Given the description of an element on the screen output the (x, y) to click on. 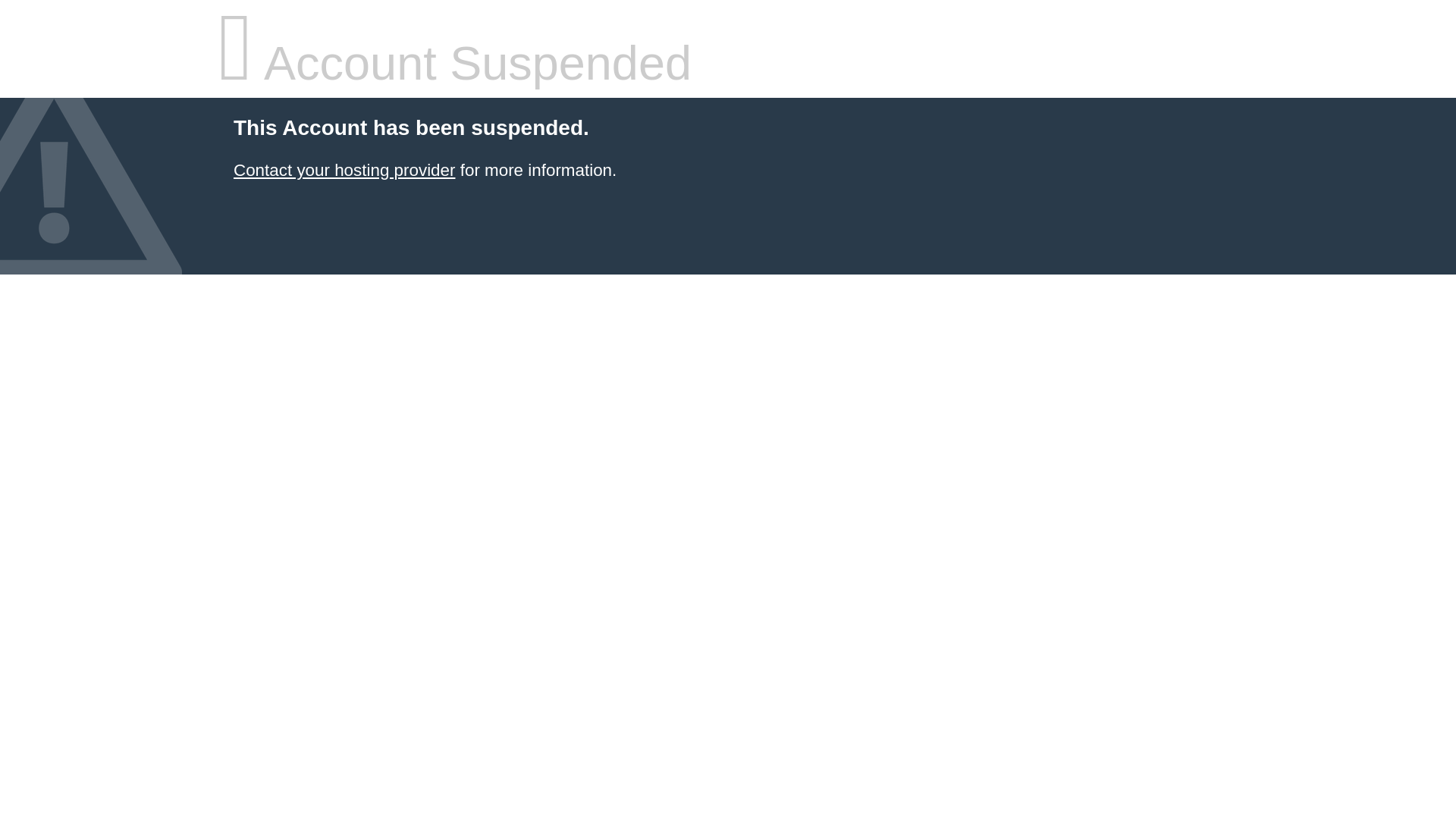
Contact your hosting provider (343, 169)
